Given the description of an element on the screen output the (x, y) to click on. 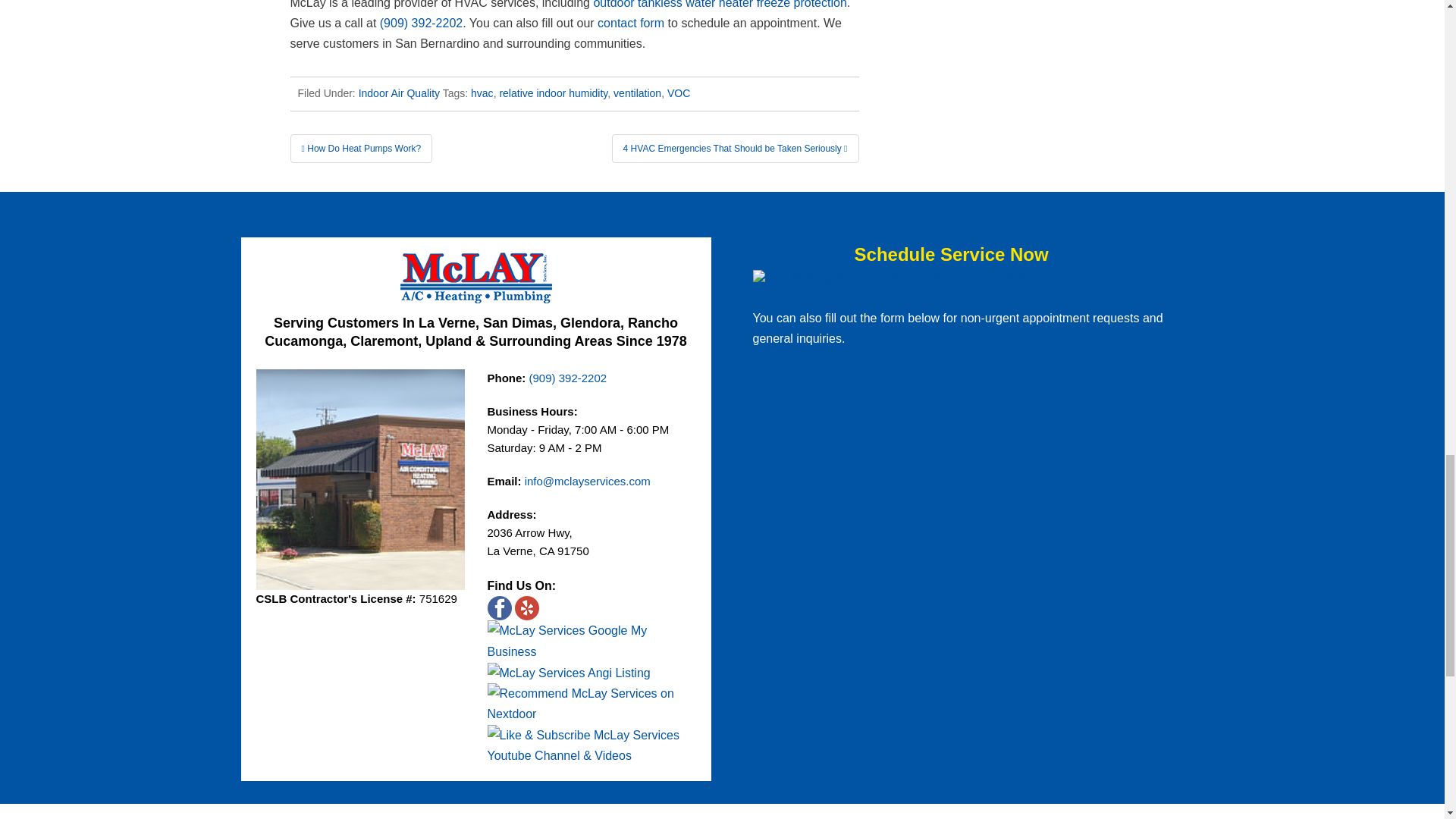
View all posts in Indoor Air Quality (398, 92)
Post Reviews on Yelp Listing (526, 607)
McLay Services Google Maps (590, 639)
Like Us on Facebook (498, 607)
